Given the description of an element on the screen output the (x, y) to click on. 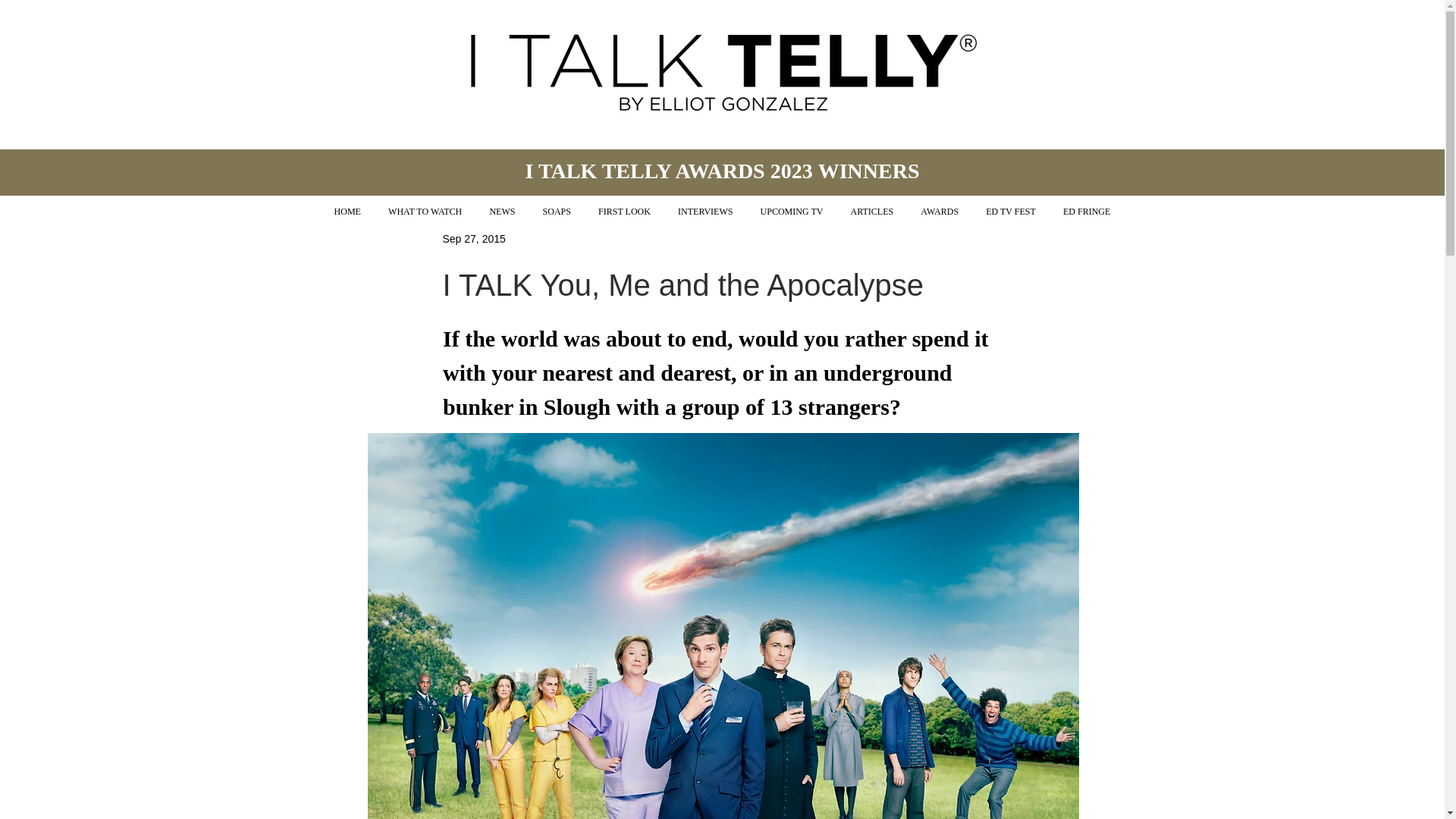
INTERVIEWS (705, 212)
ARTICLES (872, 212)
NEWS (502, 212)
I TALK TELLY AWARDS 2023 WINNERS (721, 170)
FIRST LOOK (624, 212)
ED FRINGE (1086, 212)
HOME (347, 212)
SOAPS (555, 212)
Sep 27, 2015 (473, 238)
WHAT TO WATCH (424, 212)
